Given the description of an element on the screen output the (x, y) to click on. 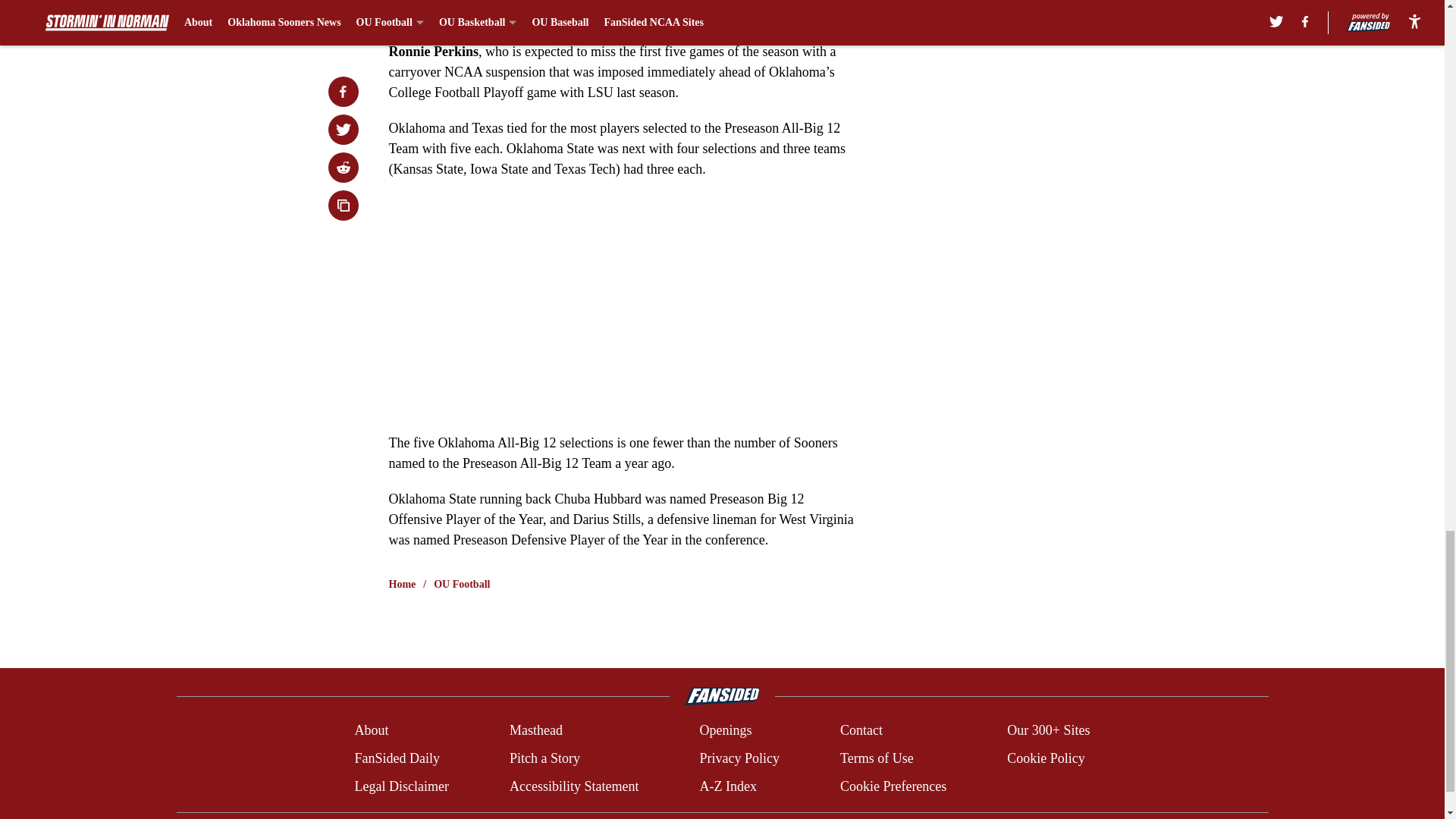
Masthead (535, 730)
Cookie Preferences (893, 786)
A-Z Index (726, 786)
Privacy Policy (738, 758)
Openings (724, 730)
About (370, 730)
Contact (861, 730)
Accessibility Statement (574, 786)
FanSided Daily (396, 758)
Cookie Policy (1045, 758)
Pitch a Story (544, 758)
Terms of Use (877, 758)
Home (401, 584)
OU Football (461, 584)
Legal Disclaimer (400, 786)
